Given the description of an element on the screen output the (x, y) to click on. 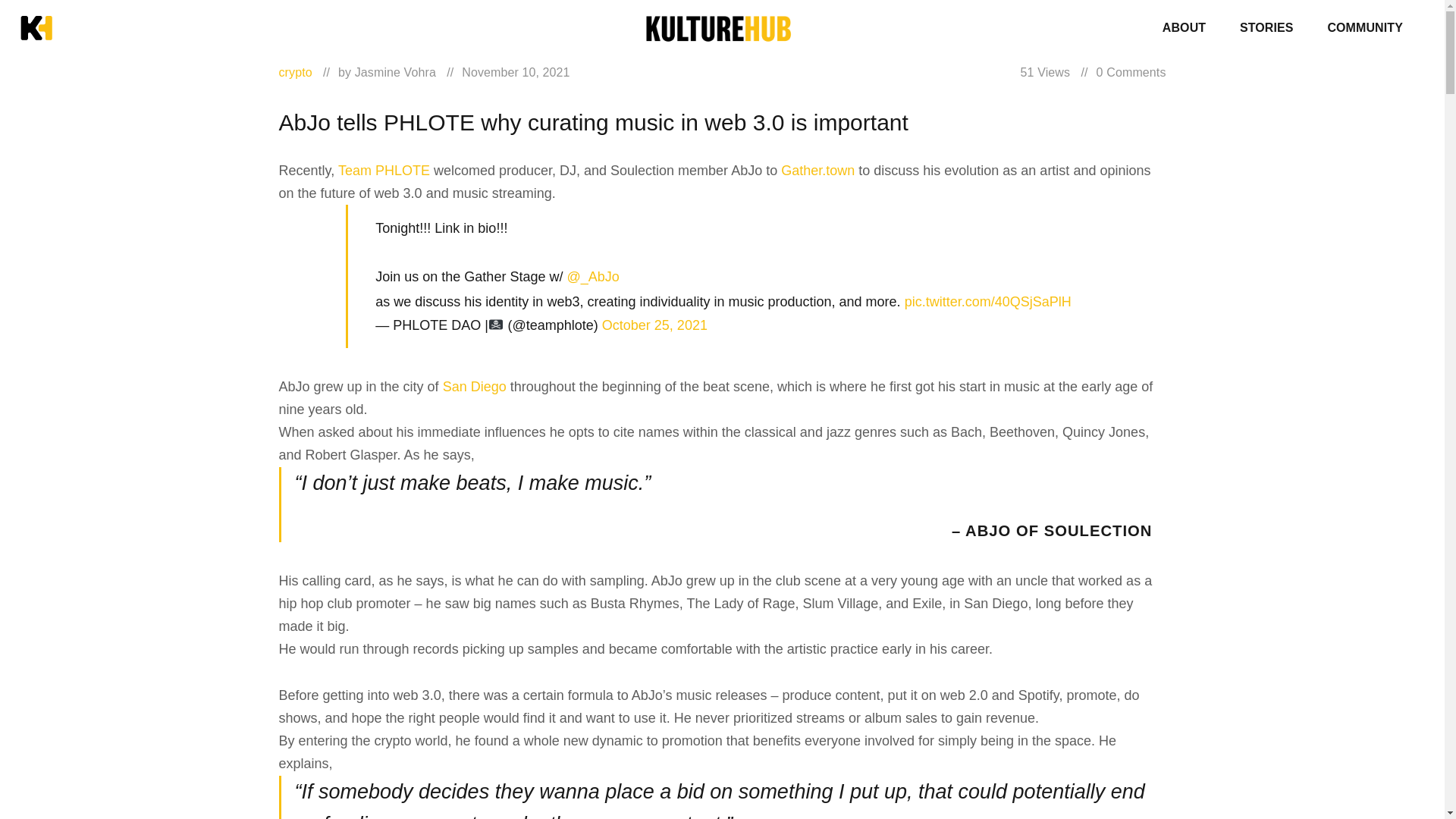
COMMUNITY (1364, 28)
STORIES (1266, 28)
ABOUT (1183, 28)
AbJo (722, 593)
